Given the description of an element on the screen output the (x, y) to click on. 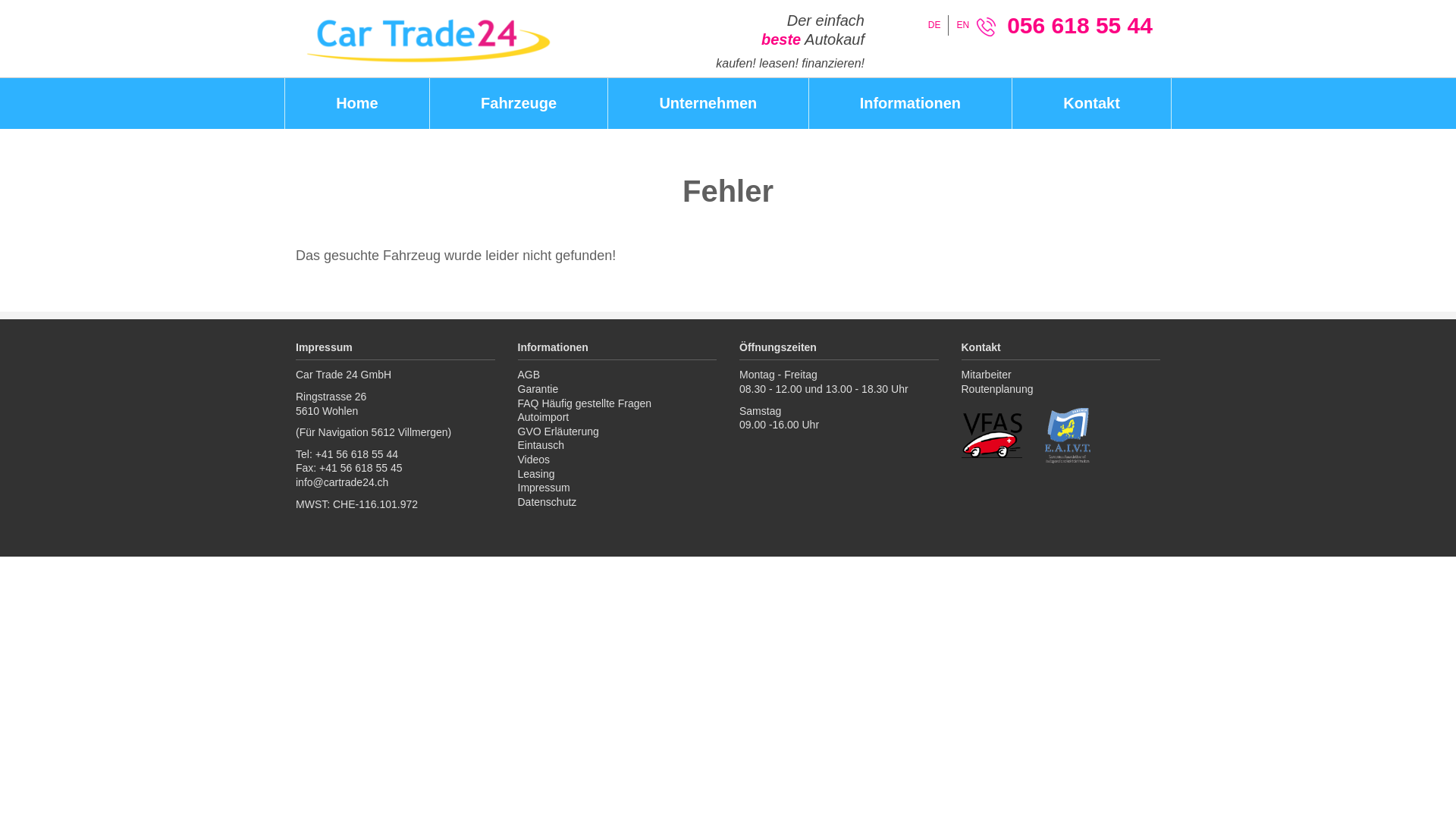
Impressum Element type: text (616, 487)
DE Element type: text (934, 24)
Datenschutz Element type: text (616, 502)
AGB Element type: text (616, 374)
Eintausch Element type: text (616, 445)
056 618 55 44 Element type: text (1079, 24)
EN Element type: text (962, 24)
Videos Element type: text (616, 459)
Kontakt Element type: text (1091, 103)
Leasing Element type: text (616, 474)
info@cartrade24.ch Element type: text (341, 482)
Garantie Element type: text (616, 389)
Fahrzeuge Element type: text (518, 103)
Mitarbeiter Element type: text (1061, 374)
Unternehmen Element type: text (707, 103)
Home Element type: text (356, 103)
Autoimport Element type: text (616, 417)
Informationen Element type: text (910, 103)
+41 56 618 55 44 Element type: text (356, 454)
Routenplanung Element type: text (1061, 389)
